Given the description of an element on the screen output the (x, y) to click on. 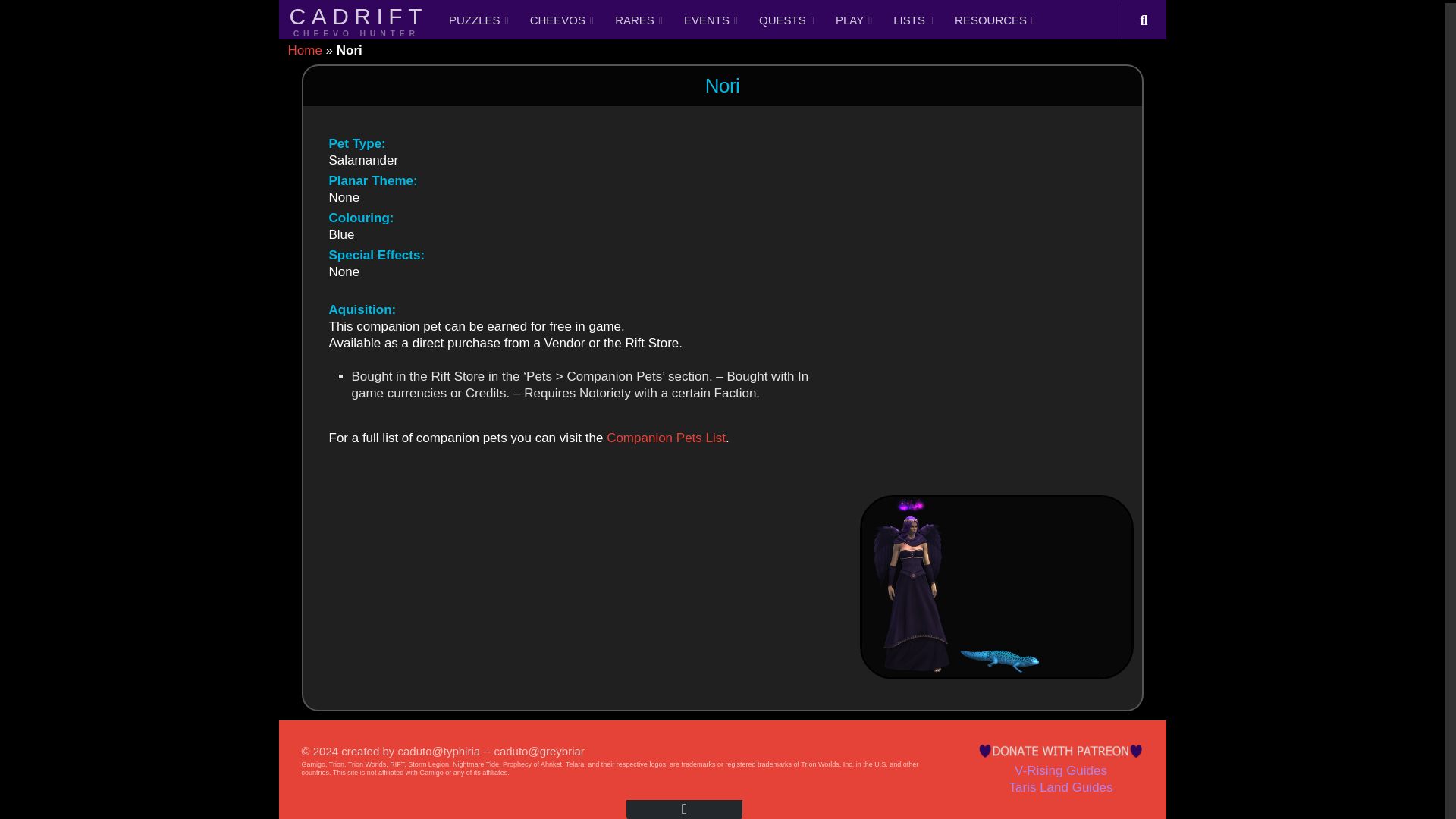
Support Cadrift on Patreon (1060, 750)
PUZZLES (478, 18)
CADRIFT (359, 18)
CHEEVOS (561, 18)
